Given the description of an element on the screen output the (x, y) to click on. 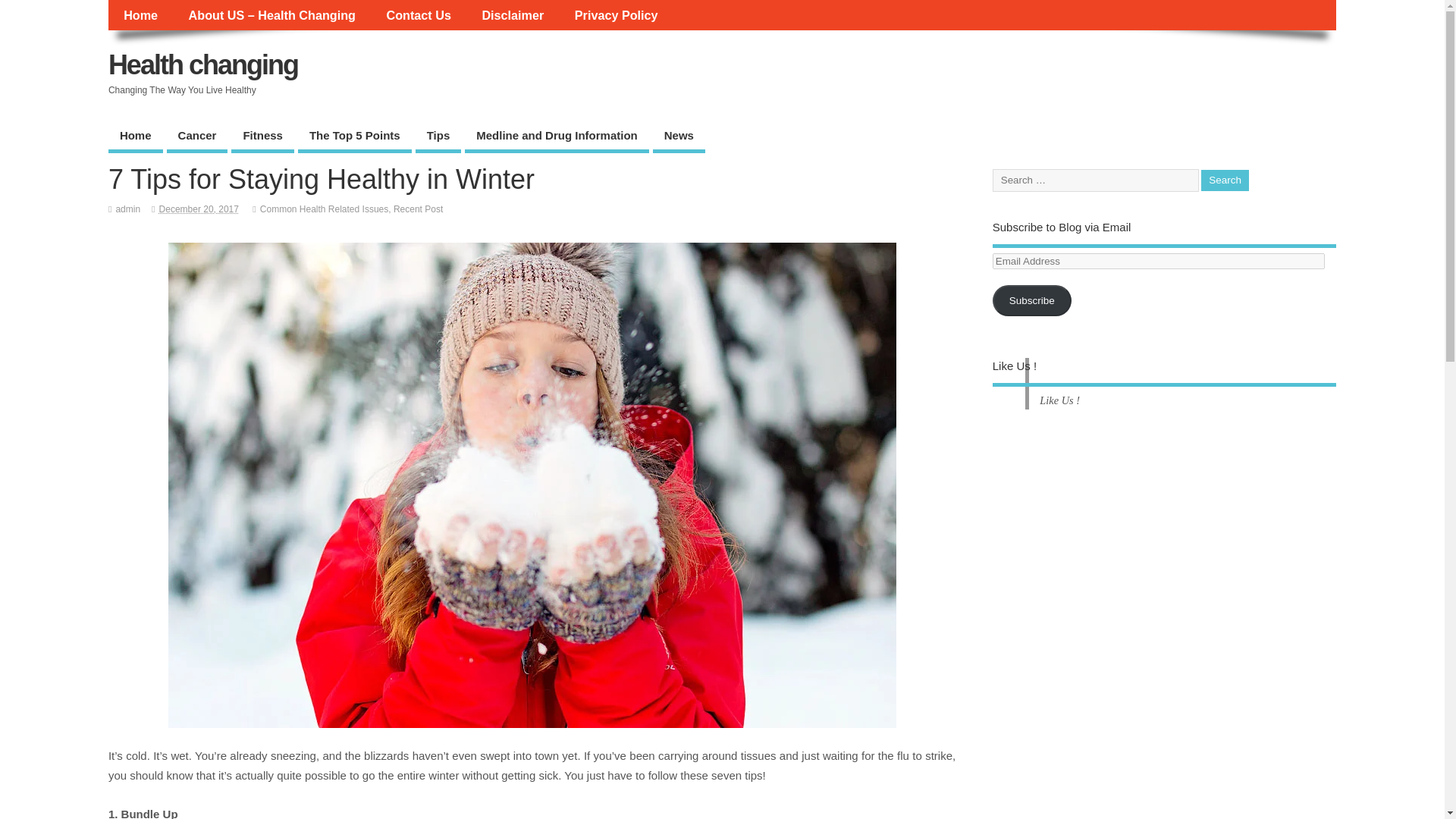
Health changing (202, 64)
Posts by admin (127, 208)
Recent Post (417, 208)
Contact Us (418, 15)
Disclaimer (512, 15)
Privacy Policy (615, 15)
Search (1225, 180)
The Top 5 Points (355, 136)
Fitness (262, 136)
admin (127, 208)
Search (1225, 180)
Health changing (202, 64)
Common Health Related Issues (324, 208)
News (678, 136)
Cancer (197, 136)
